Given the description of an element on the screen output the (x, y) to click on. 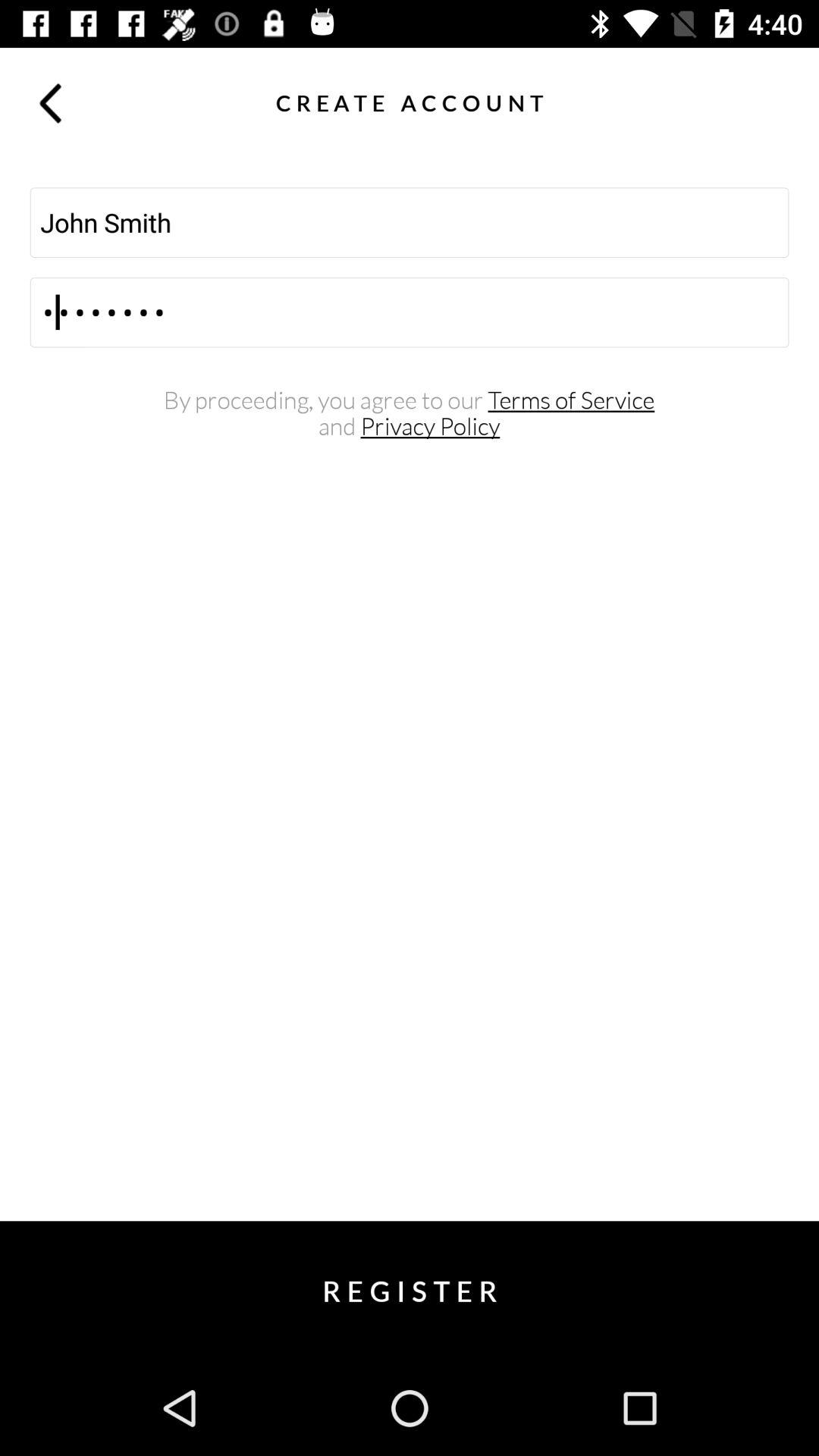
scroll until the john smith item (409, 222)
